Given the description of an element on the screen output the (x, y) to click on. 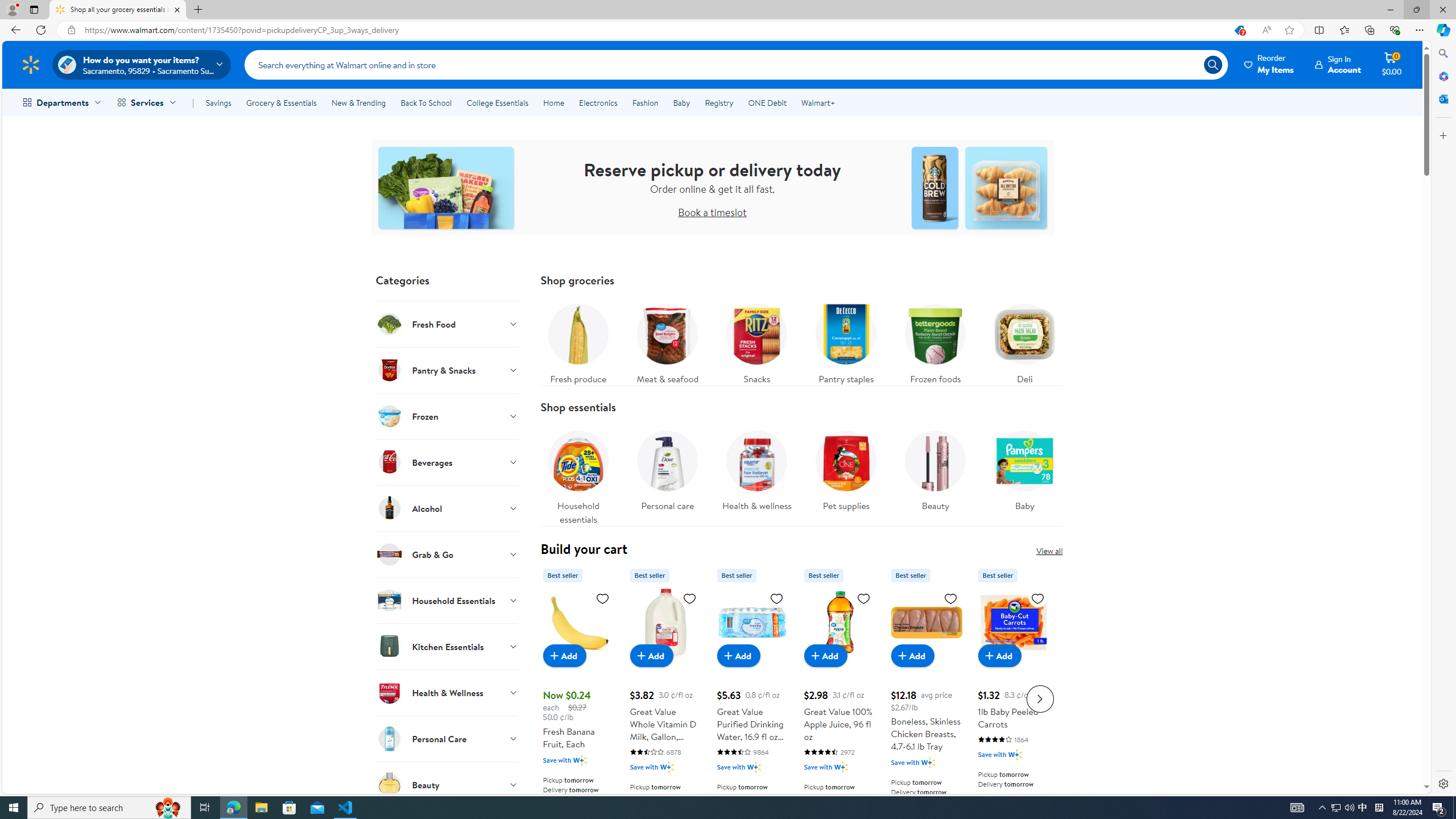
New & Trending (358, 102)
Sign In Account (1338, 64)
Back To School (425, 102)
Pantry staples (845, 340)
Sign in to add to Favorites list, Fresh Banana Fruit, Each (601, 597)
Pet supplies (845, 473)
Beauty (935, 473)
Boneless, Skinless Chicken Breasts, 4.7-6.1 lb Tray (926, 621)
